Given the description of an element on the screen output the (x, y) to click on. 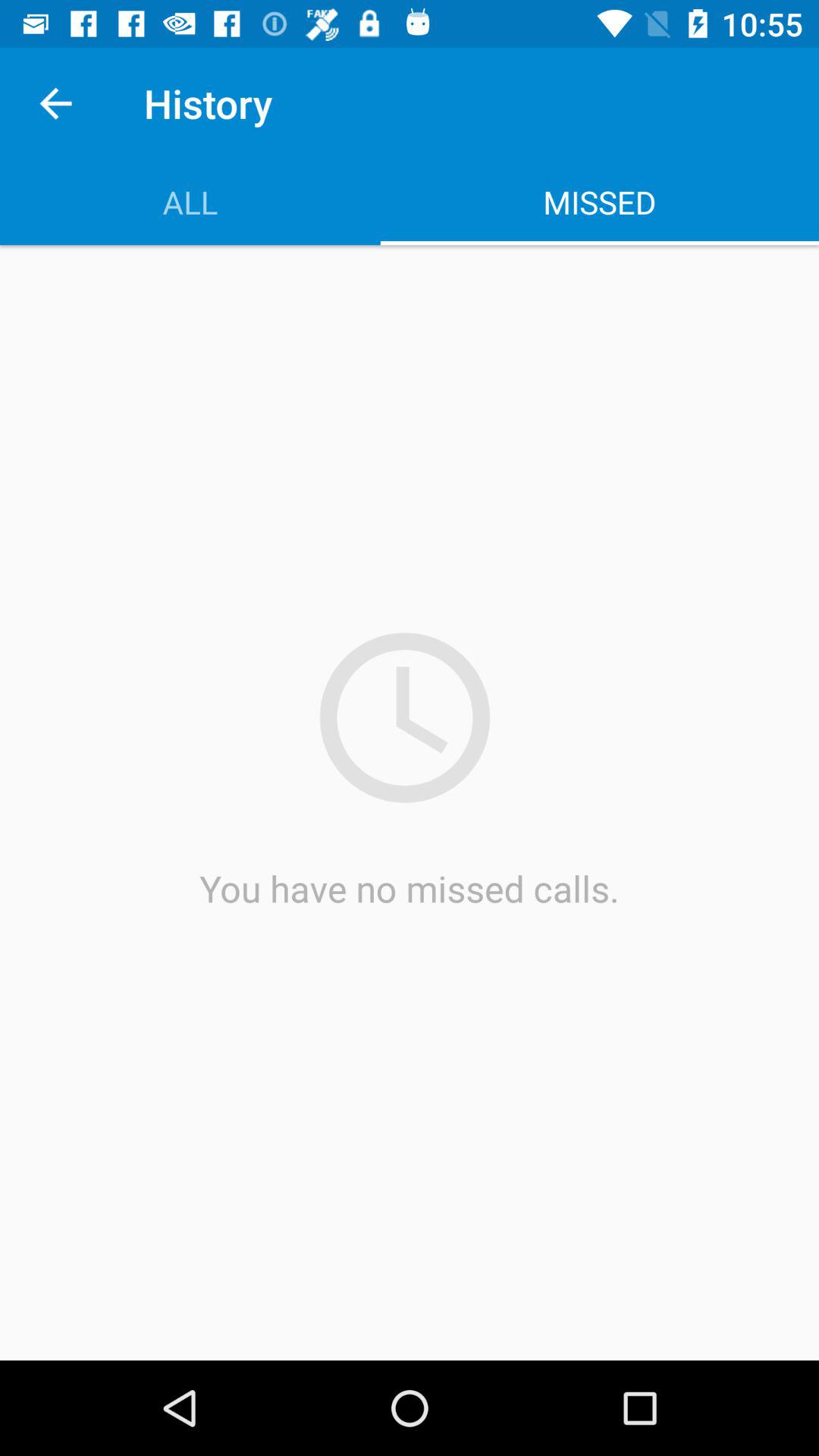
press item to the left of the missed item (190, 202)
